Given the description of an element on the screen output the (x, y) to click on. 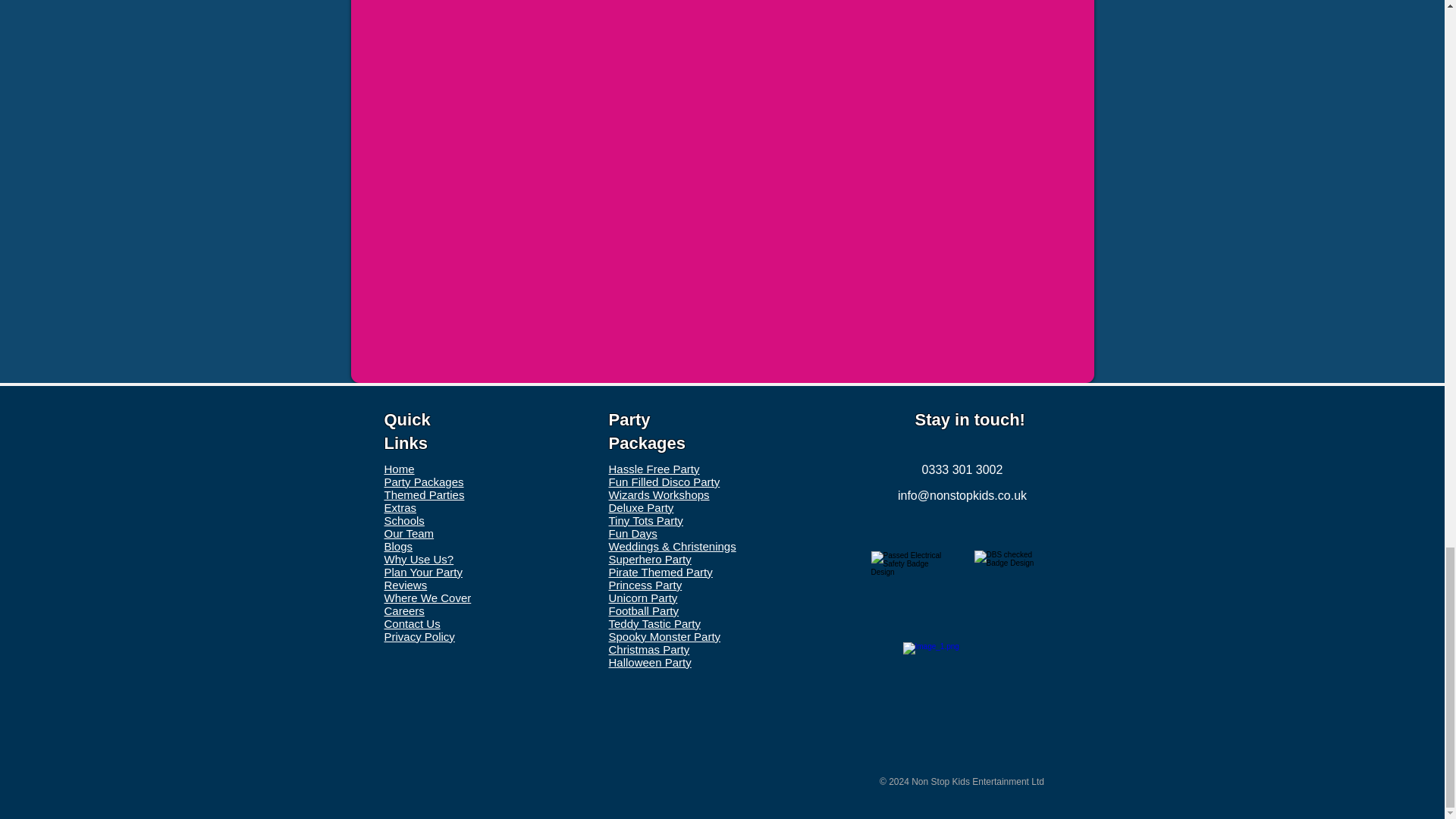
Where We Cover (427, 597)
Careers (403, 610)
Hassle Free Party (653, 468)
Plan Your Party (422, 571)
Why Use Us? (418, 558)
Privacy Policy (419, 635)
Extras (400, 507)
Reviews (405, 584)
Schools (403, 520)
